Given the description of an element on the screen output the (x, y) to click on. 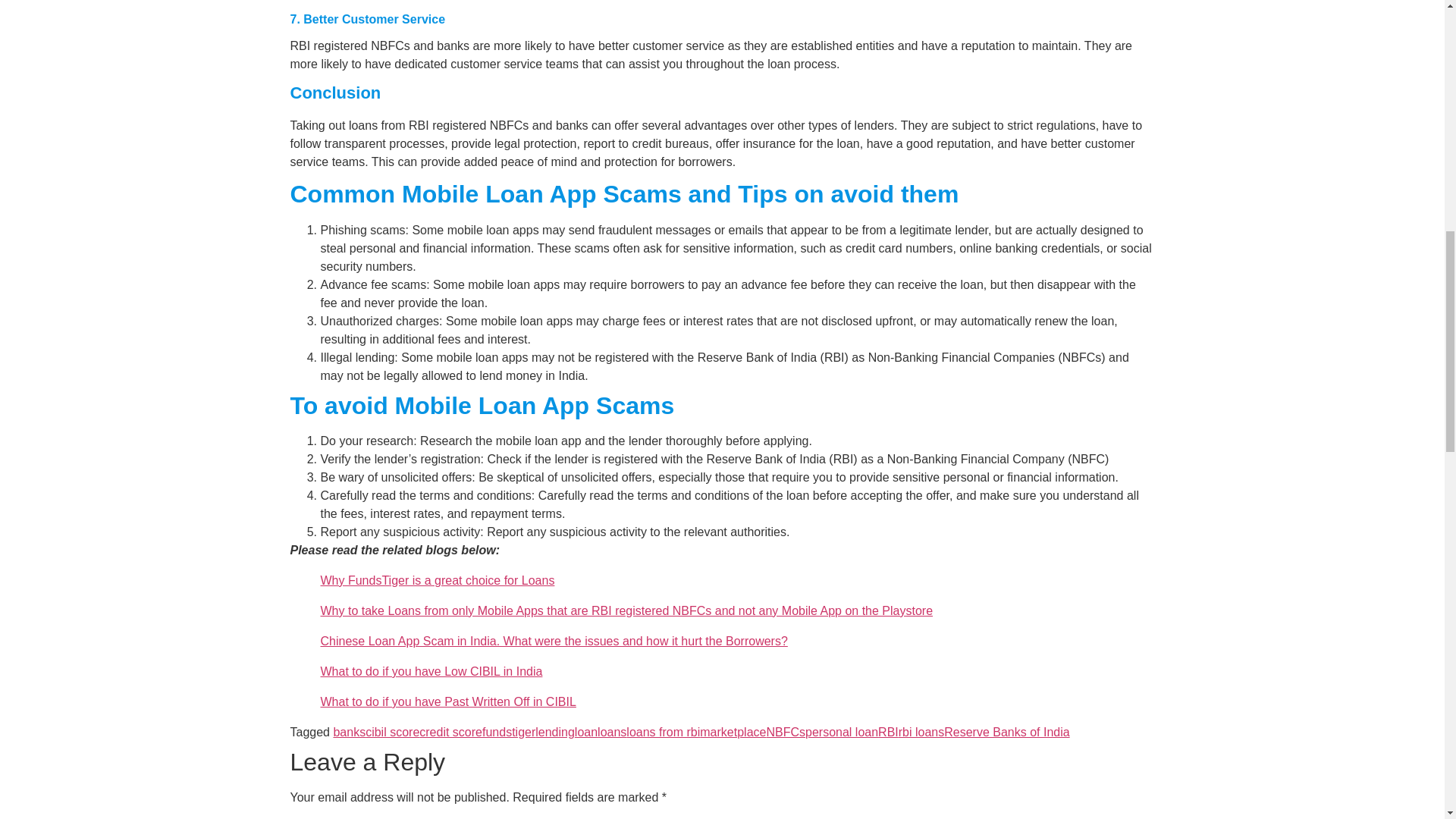
credit score (450, 731)
cibil score (392, 731)
lending (555, 731)
banks (349, 731)
What to do if you have Low CIBIL in India (430, 671)
What to do if you have Past Written Off in CIBIL (447, 701)
fundstiger (508, 731)
Why FundsTiger is a great choice for Loans (437, 580)
